Given the description of an element on the screen output the (x, y) to click on. 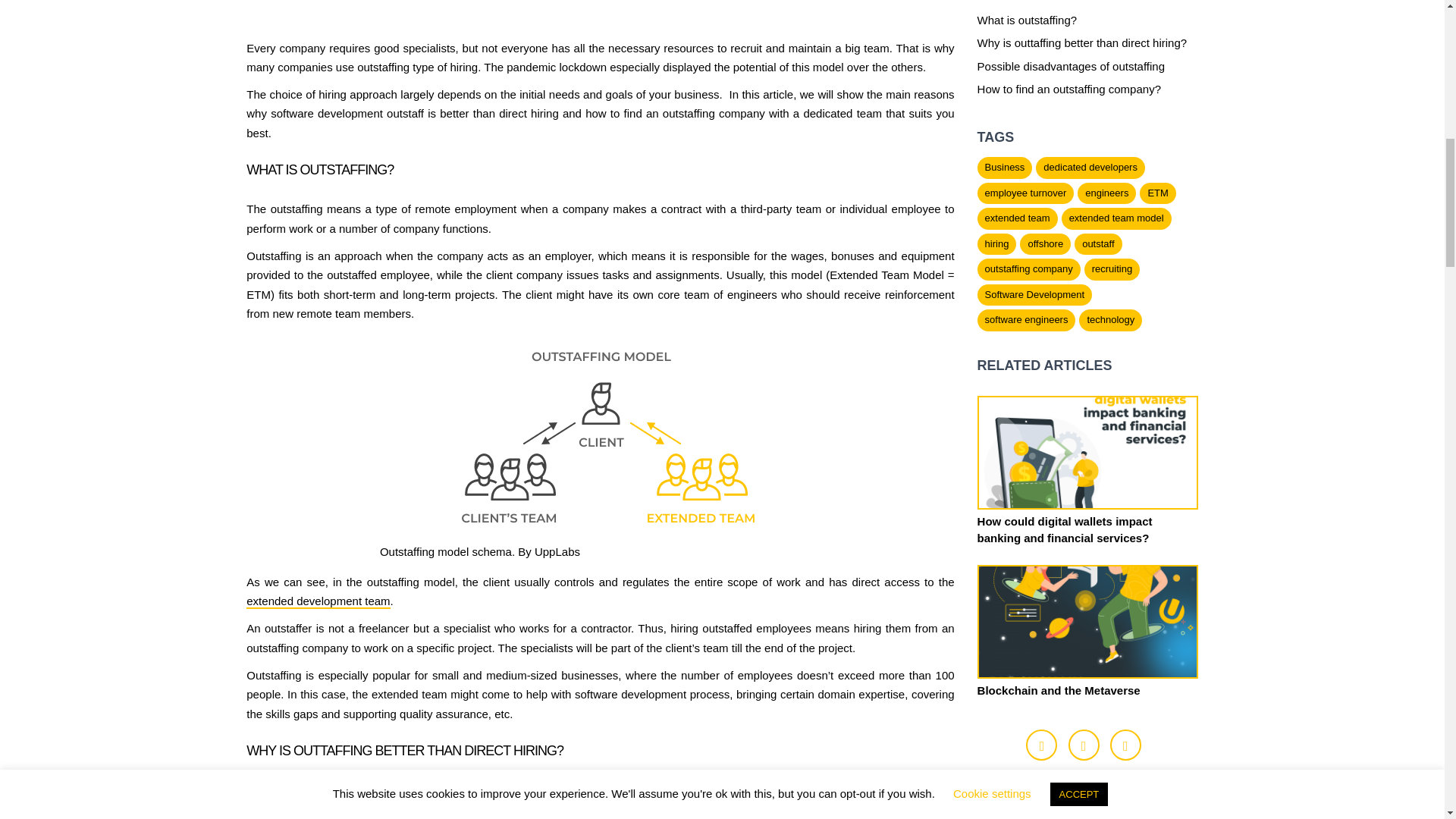
dedicated developers (1089, 168)
engineers (1106, 193)
ETM (1157, 193)
How to find an outstaffing company? (1068, 88)
Possible disadvantages of outstaffing (1070, 65)
What is outstaffing? (1026, 19)
extended team model (1116, 219)
offshore (1045, 244)
outstaff (1097, 244)
Why is outtaffing better than direct hiring? (1082, 42)
outstaffing company (1028, 269)
extended development team (318, 601)
extended team (1017, 219)
Business (1004, 168)
hiring (996, 244)
